Given the description of an element on the screen output the (x, y) to click on. 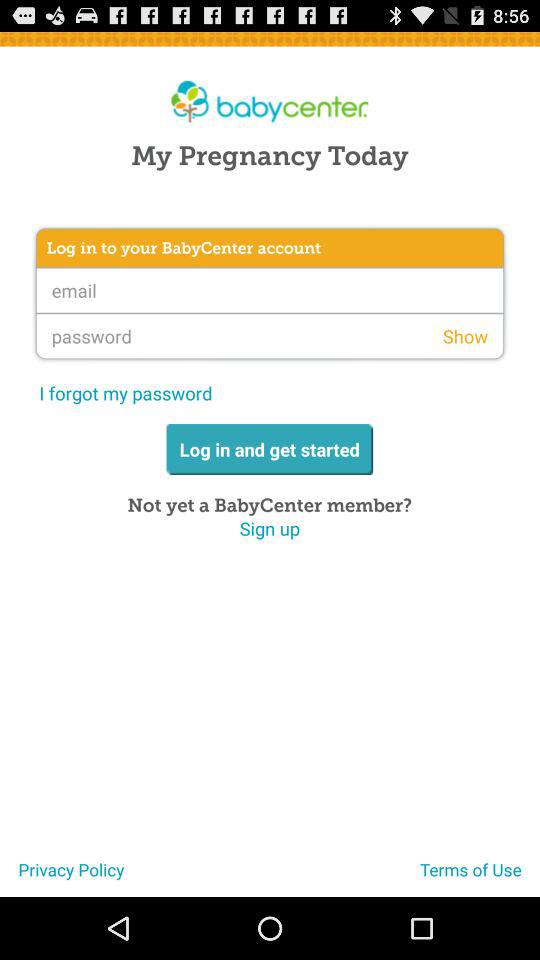
open the app on the right (465, 335)
